Given the description of an element on the screen output the (x, y) to click on. 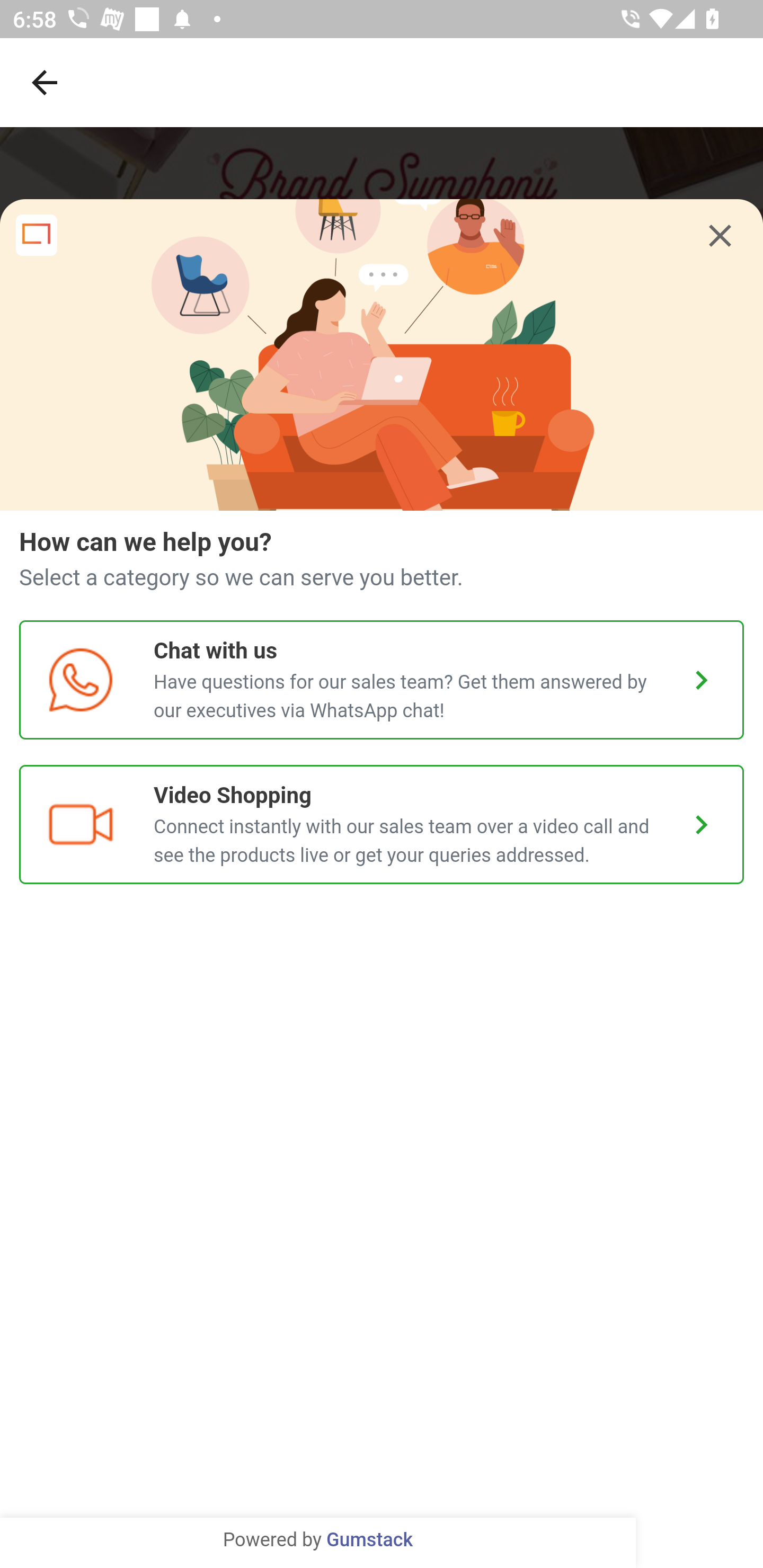
Navigate up (44, 82)
clear (720, 235)
Gumstack (369, 1540)
